Given the description of an element on the screen output the (x, y) to click on. 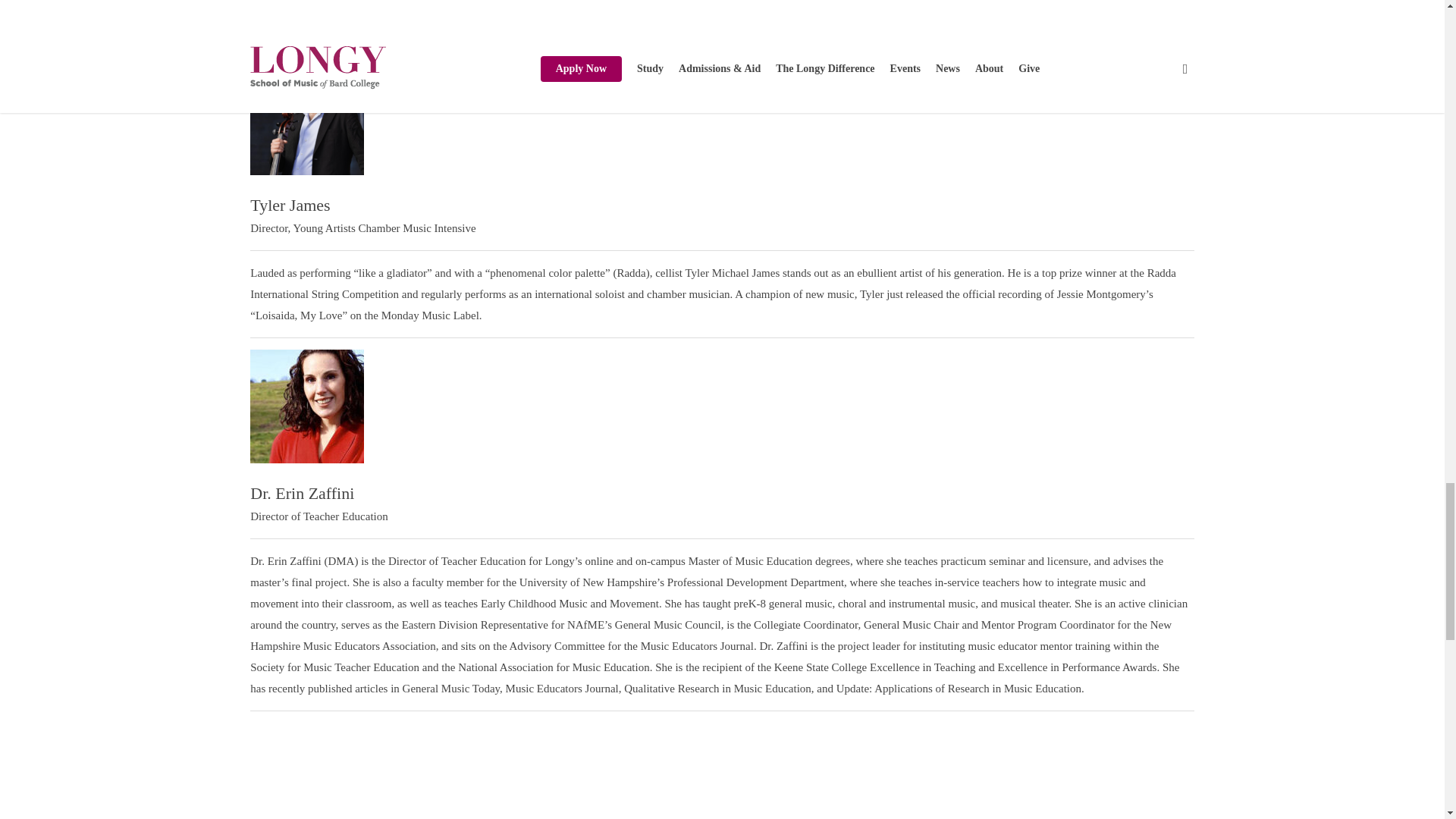
Dr. Erin Zaffini (301, 493)
Tyler James (307, 118)
Dr. Erin Zaffini (307, 406)
